Given the description of an element on the screen output the (x, y) to click on. 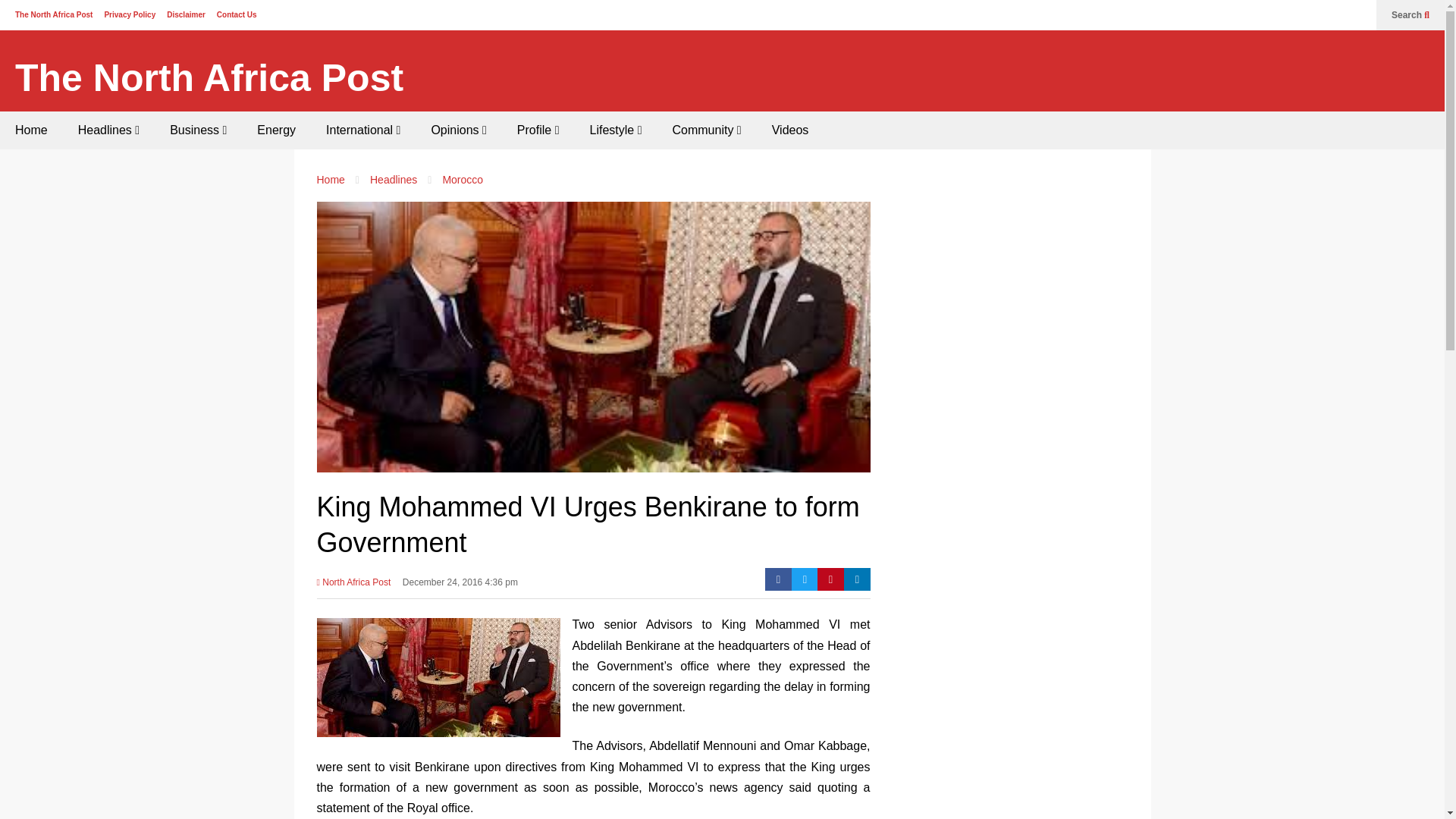
The North Africa Post (208, 78)
Search (1410, 15)
International (362, 130)
Energy (276, 130)
Profile (538, 130)
Privacy Policy (129, 14)
Community (705, 130)
Pinterest (830, 579)
Lifestyle (616, 130)
Business (197, 130)
